Given the description of an element on the screen output the (x, y) to click on. 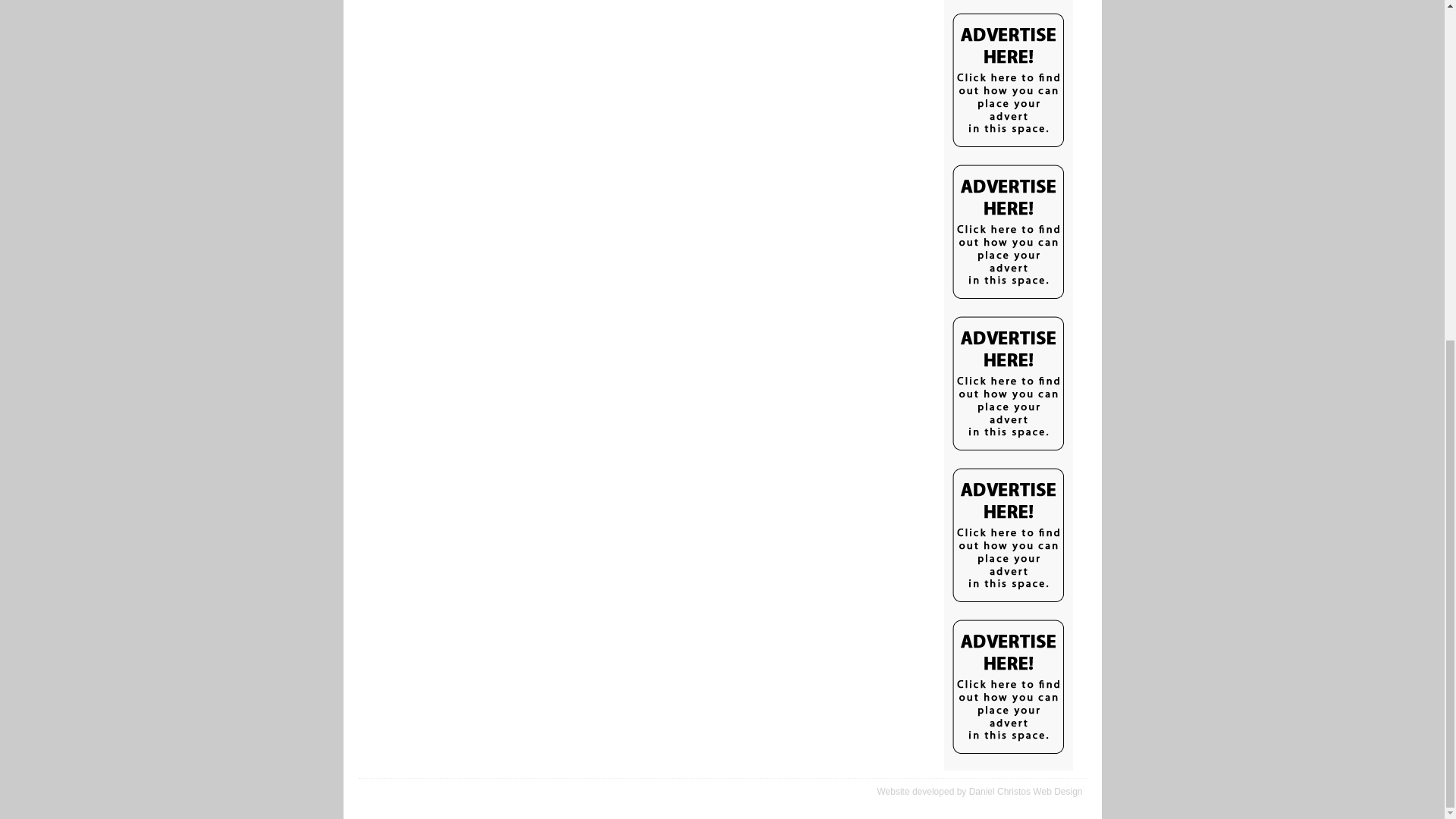
Daniel Christos Web Design (1026, 791)
